Given the description of an element on the screen output the (x, y) to click on. 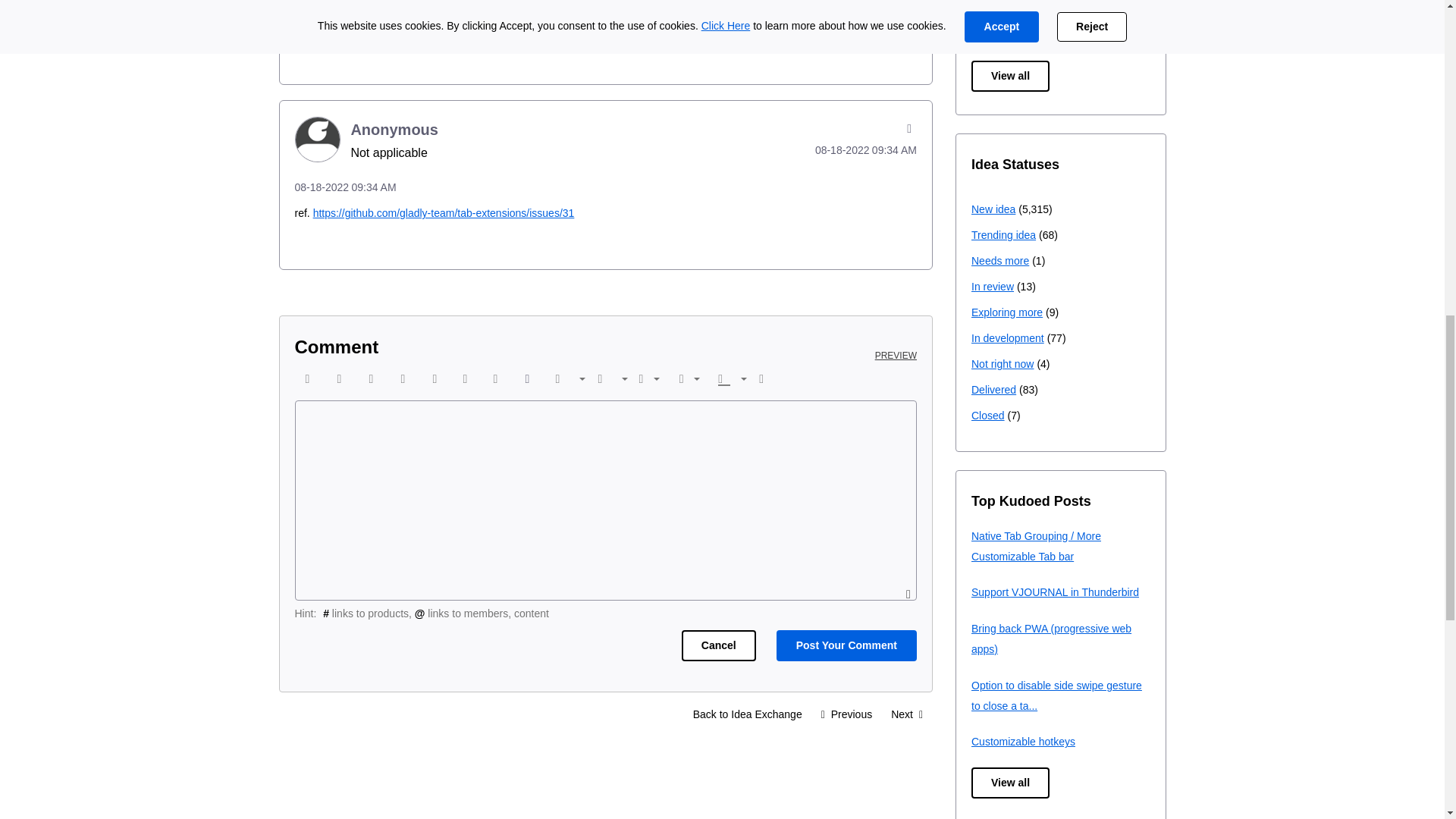
Post Your Comment (846, 644)
Cancel (718, 644)
Posted on (605, 5)
